Given the description of an element on the screen output the (x, y) to click on. 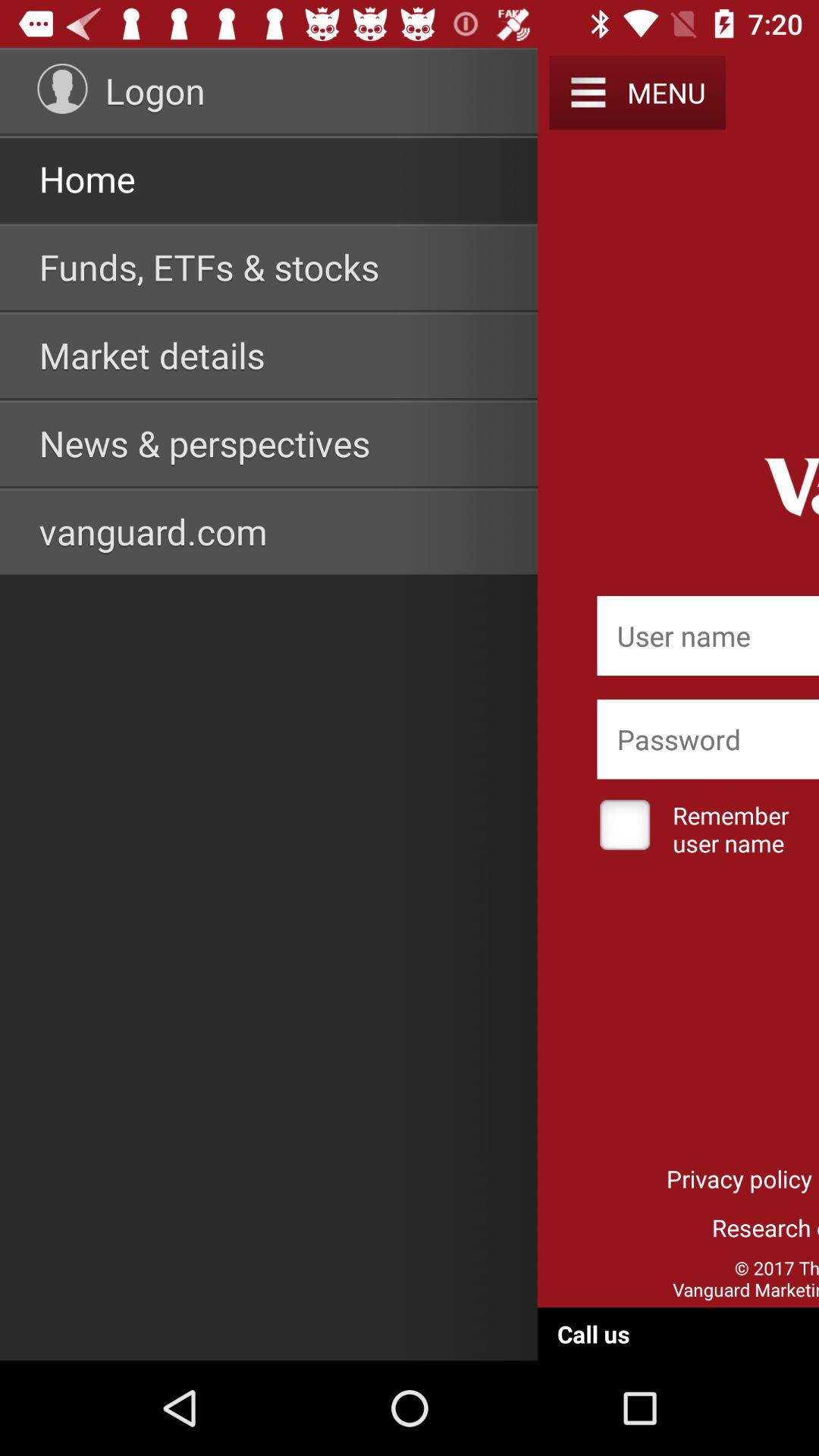
turn off icon to the left of menu icon (588, 92)
